Given the description of an element on the screen output the (x, y) to click on. 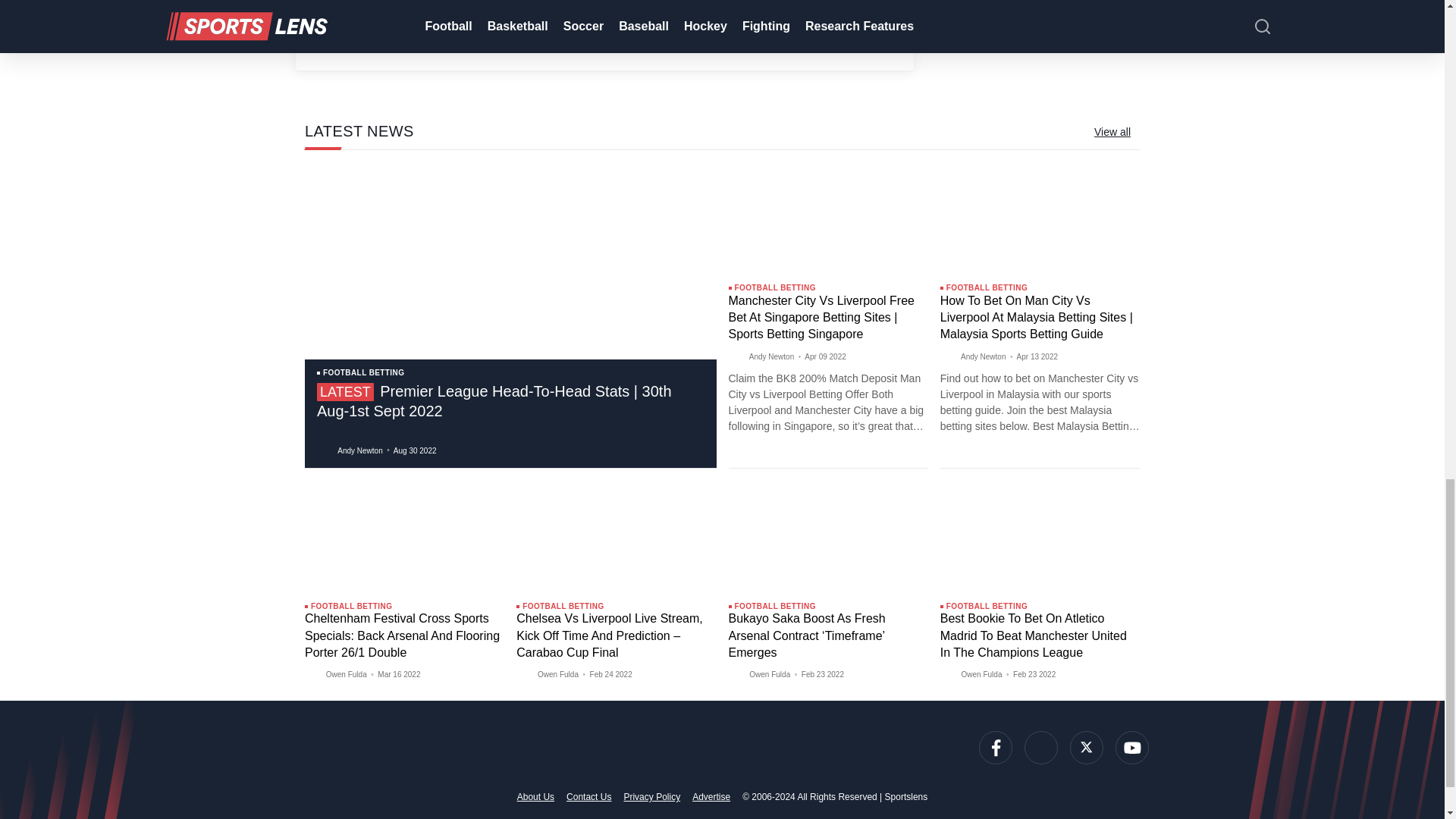
View All Posts By Michael Black (525, 13)
